Given the description of an element on the screen output the (x, y) to click on. 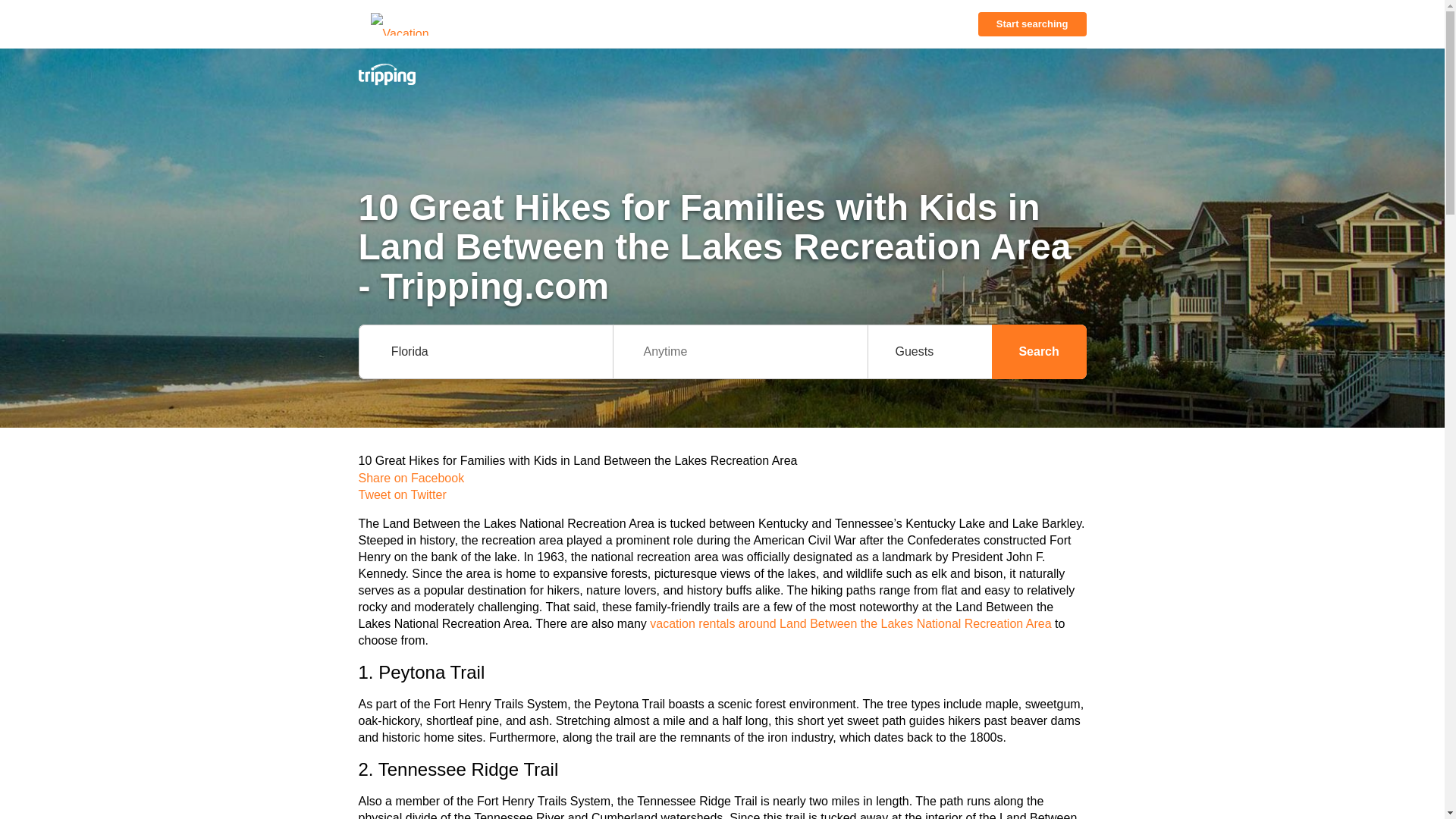
Tweet on Twitter (722, 494)
Share on Facebook (722, 478)
Start searching (1032, 24)
Search (1038, 351)
